Given the description of an element on the screen output the (x, y) to click on. 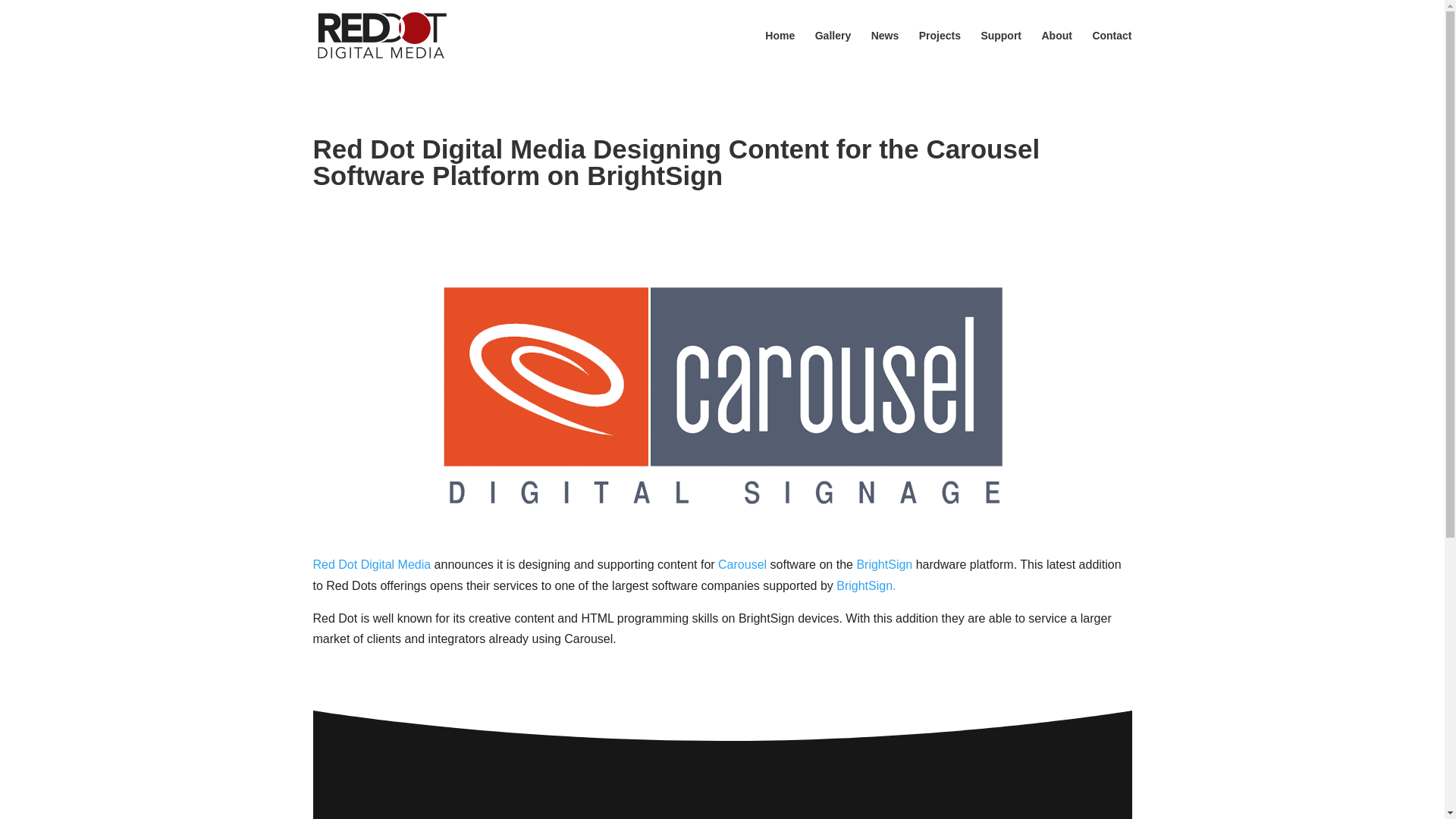
Red Dot Digital Media (371, 563)
Contact (1111, 50)
BrightSign. (865, 585)
BrightSign (884, 563)
Projects (939, 50)
Carousel (742, 563)
Support (1000, 50)
